Given the description of an element on the screen output the (x, y) to click on. 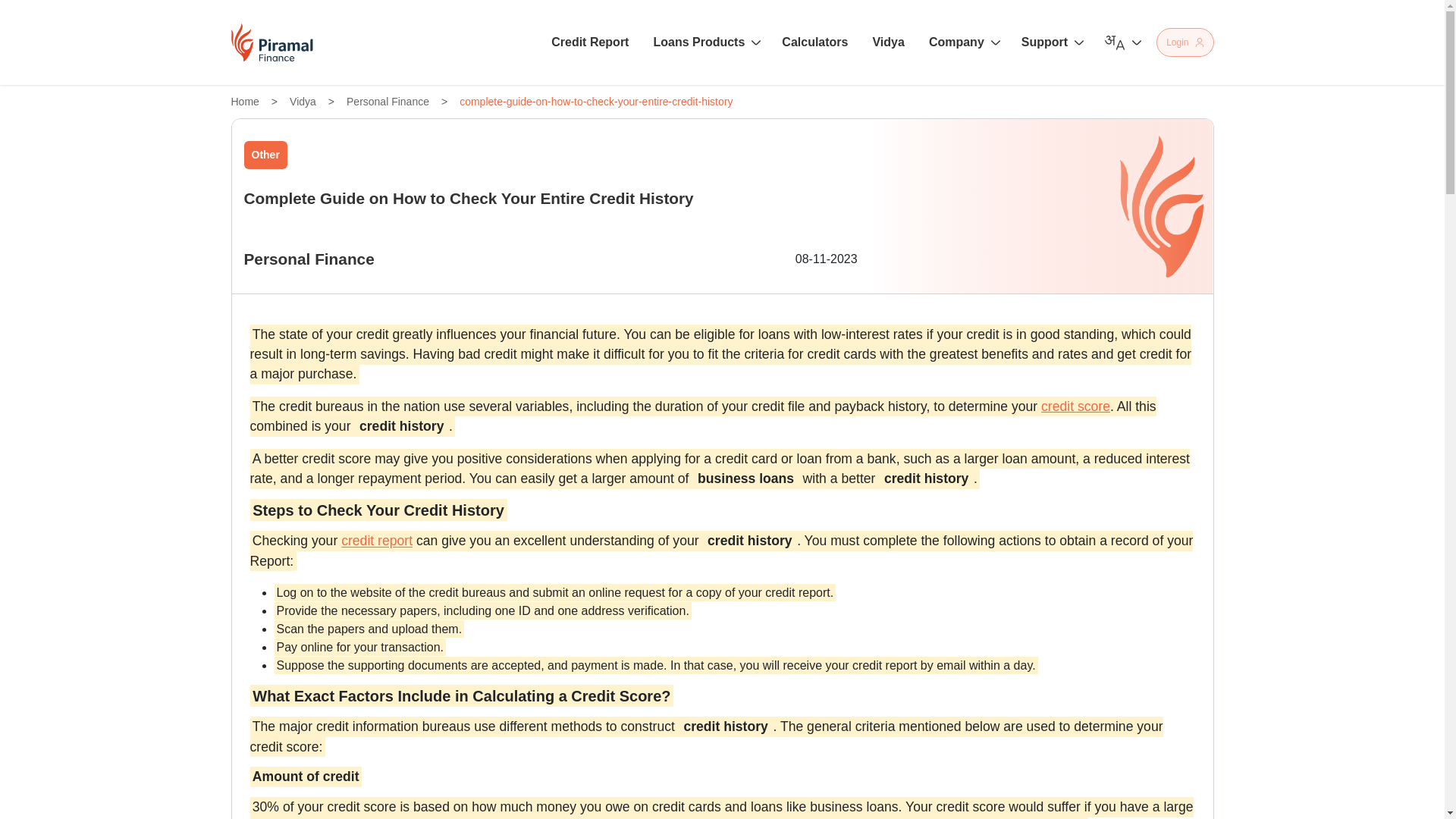
Loans Products (704, 42)
Support (1050, 42)
Credit Report (589, 42)
Company (963, 42)
Vidya (888, 42)
Calculators (814, 42)
